Given the description of an element on the screen output the (x, y) to click on. 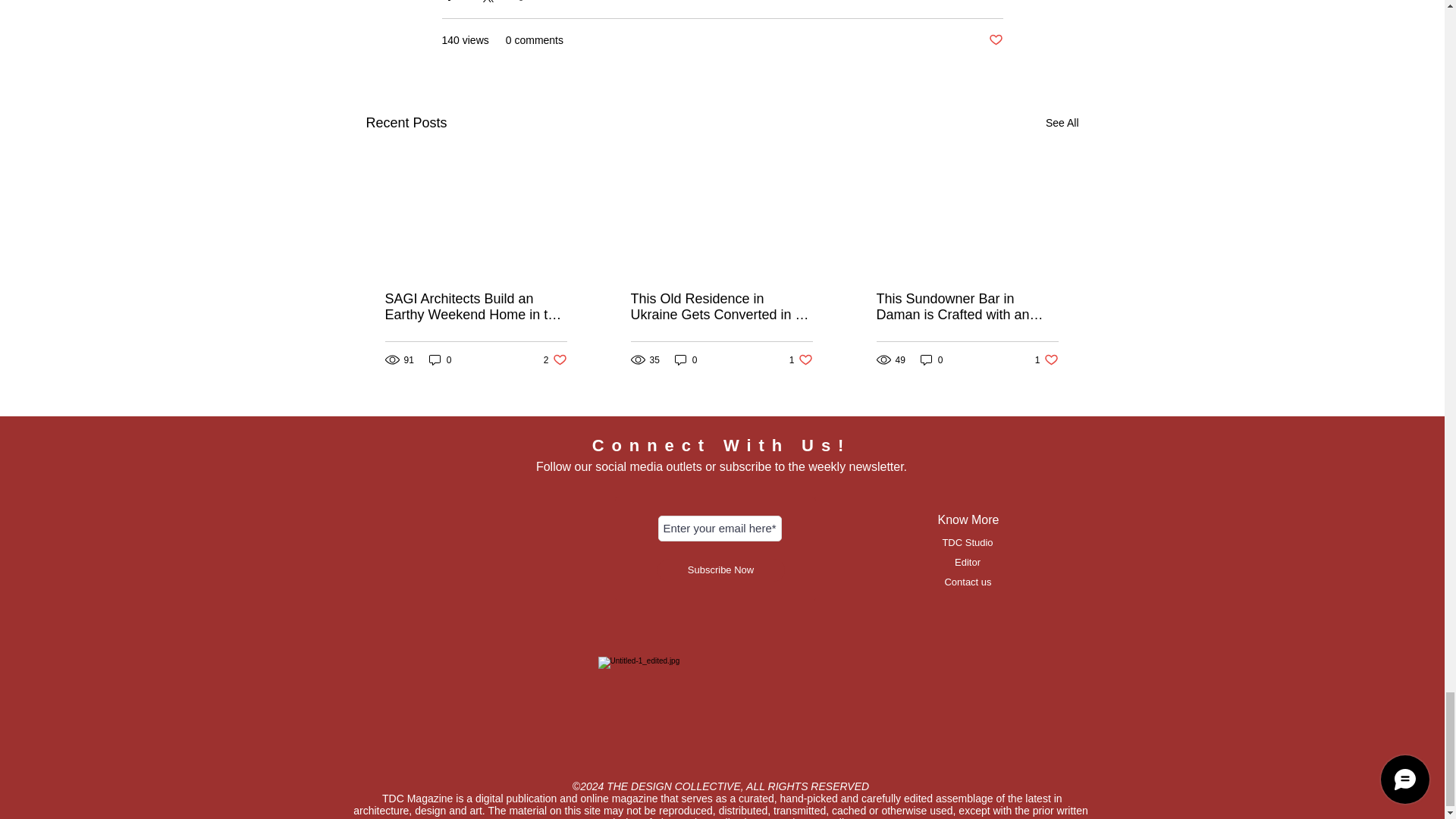
Architecture (974, 0)
0 (440, 359)
0 (685, 359)
See All (555, 359)
Post not marked as liked (1061, 123)
Residences (995, 40)
